Given the description of an element on the screen output the (x, y) to click on. 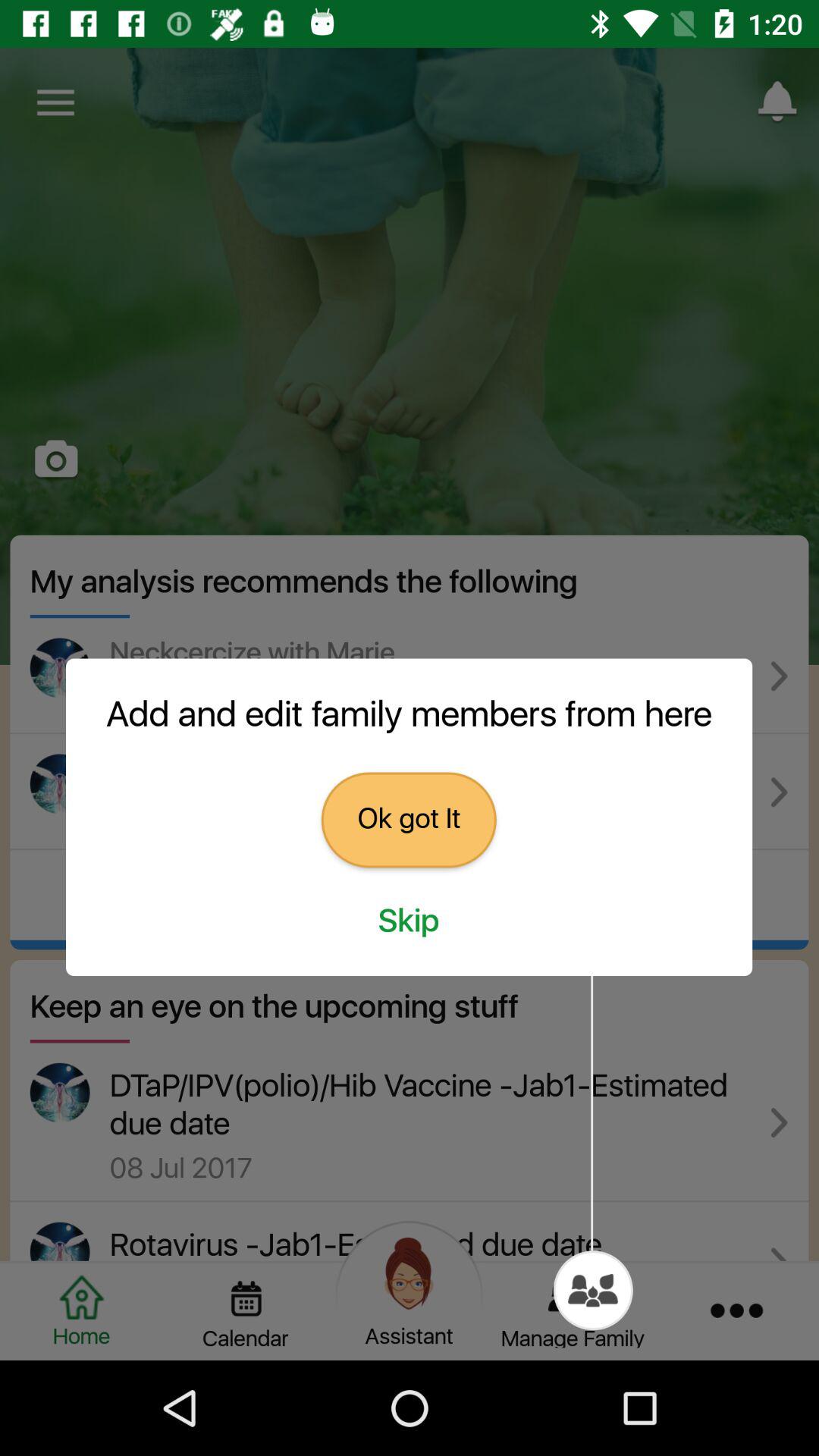
swipe until the skip (408, 921)
